Given the description of an element on the screen output the (x, y) to click on. 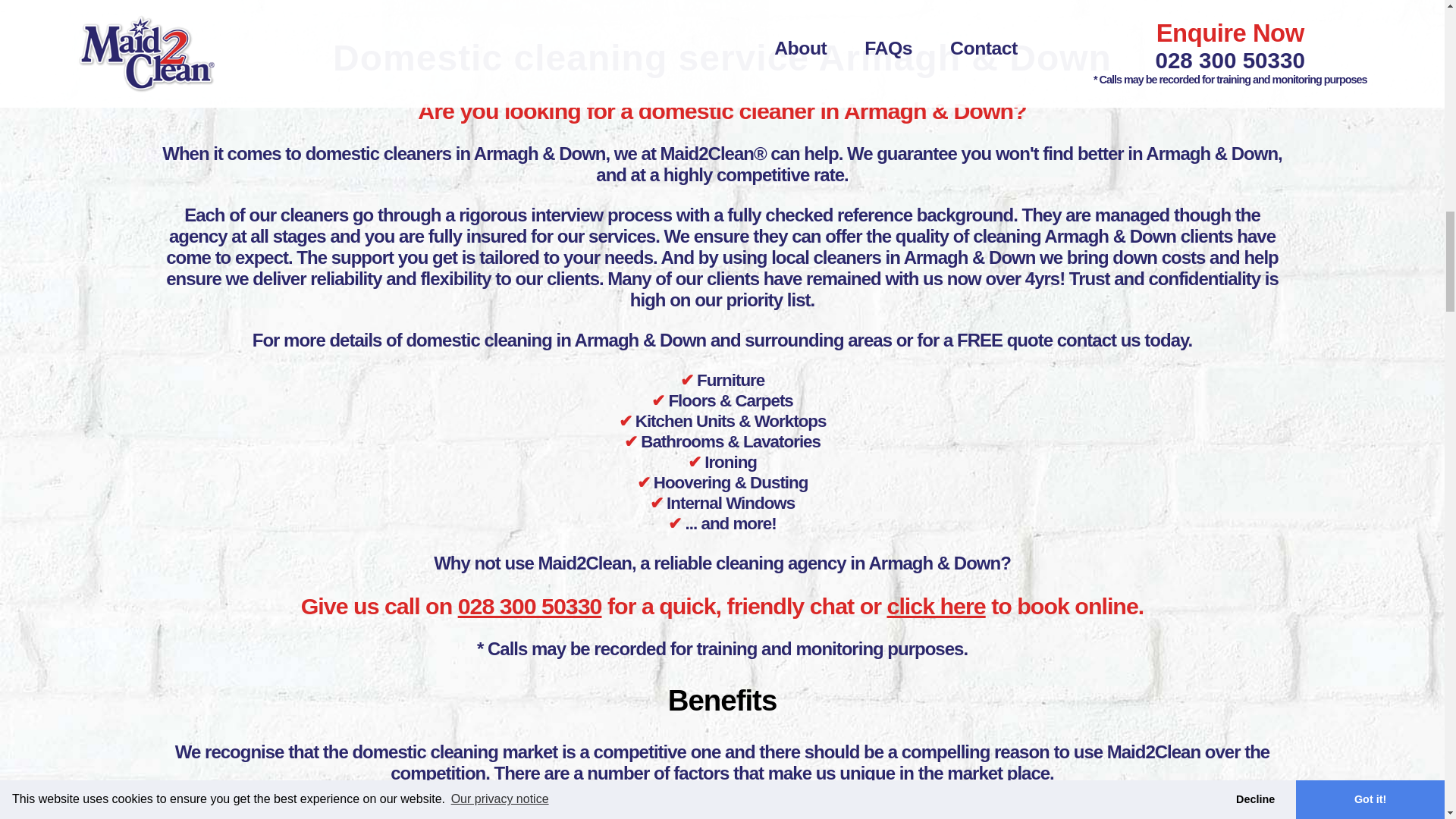
028 300 50330 (530, 605)
click here (935, 605)
